Given the description of an element on the screen output the (x, y) to click on. 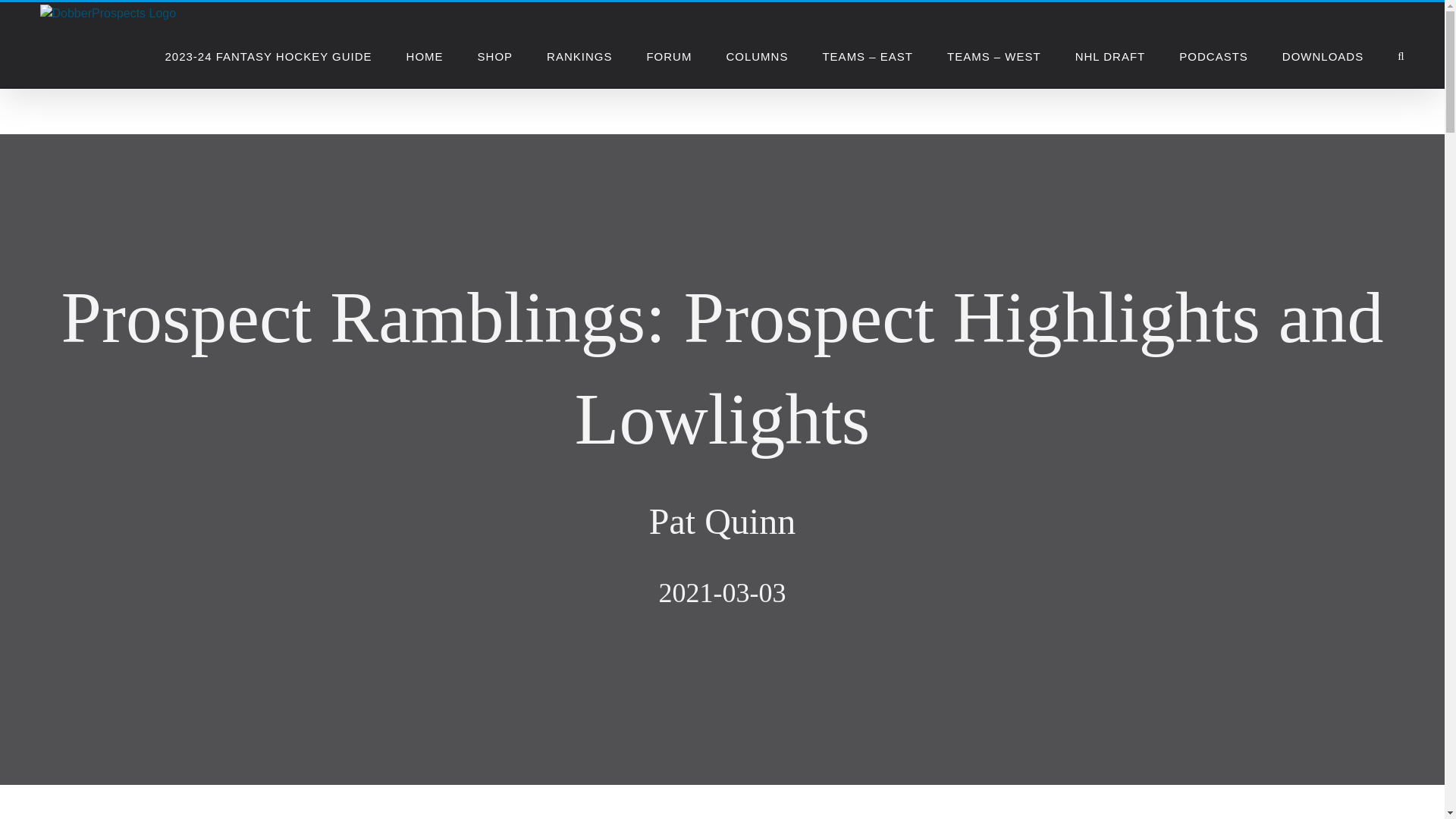
COLUMNS (756, 55)
2023-24 FANTASY HOCKEY GUIDE (267, 55)
RANKINGS (579, 55)
